Given the description of an element on the screen output the (x, y) to click on. 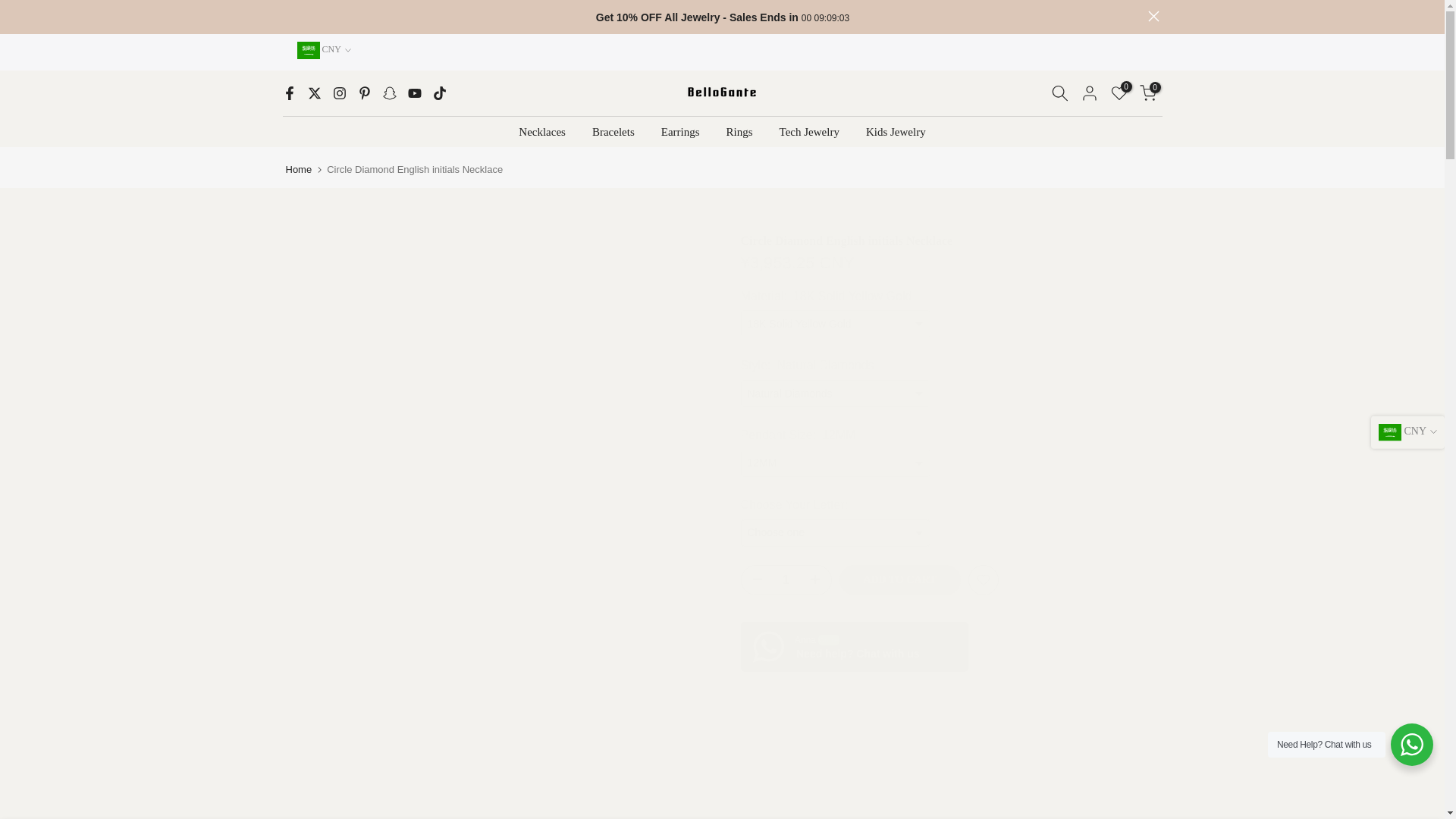
close (1153, 16)
Tech Jewelry (808, 131)
Kids Jewelry (895, 131)
CNY (323, 49)
Home (298, 168)
Earrings (680, 131)
Necklaces (542, 131)
Bracelets (612, 131)
0 (1147, 93)
Rings (739, 131)
0 (1117, 93)
1 (786, 579)
Skip to content (10, 7)
